Given the description of an element on the screen output the (x, y) to click on. 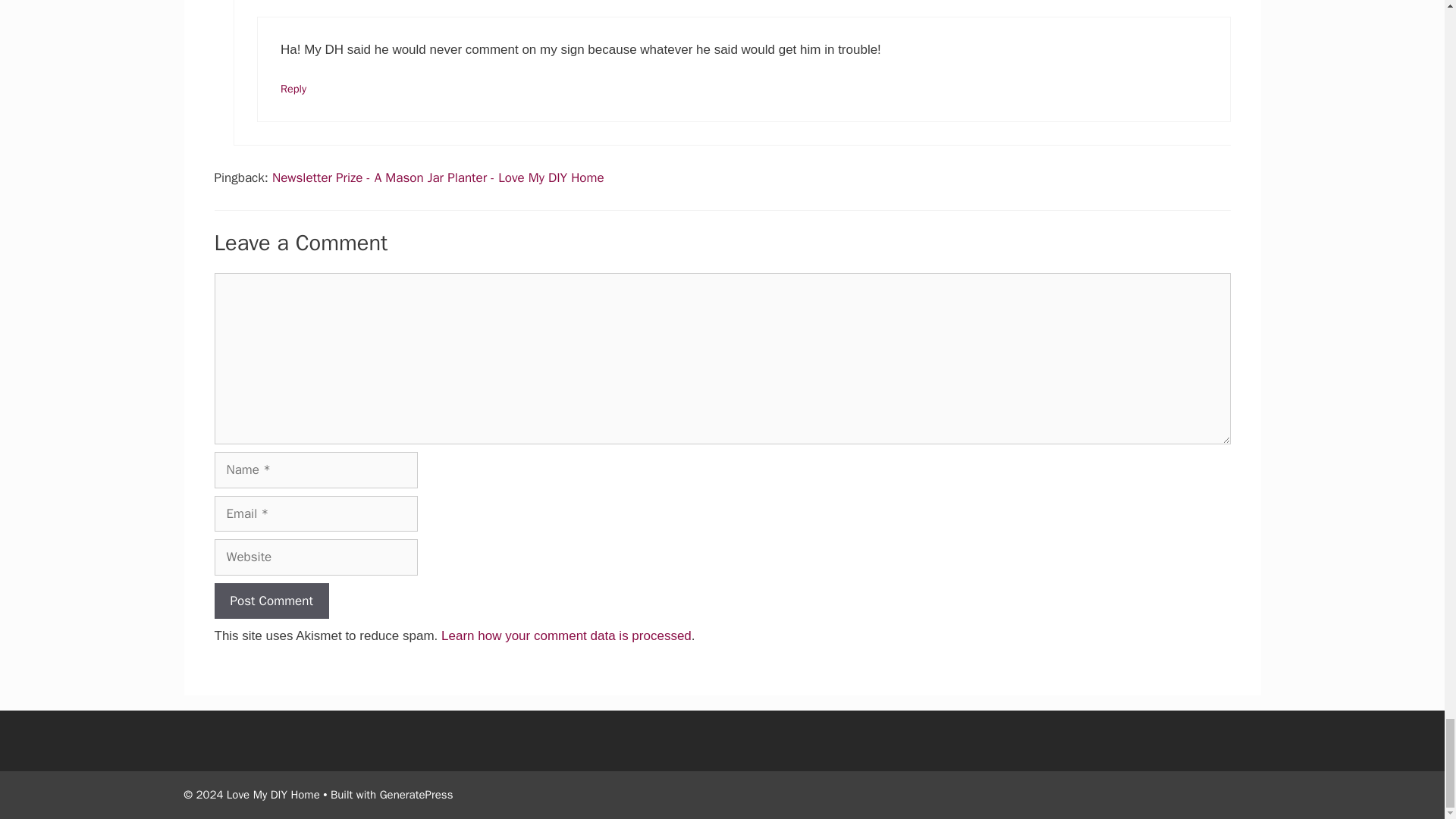
Post Comment (271, 601)
